Given the description of an element on the screen output the (x, y) to click on. 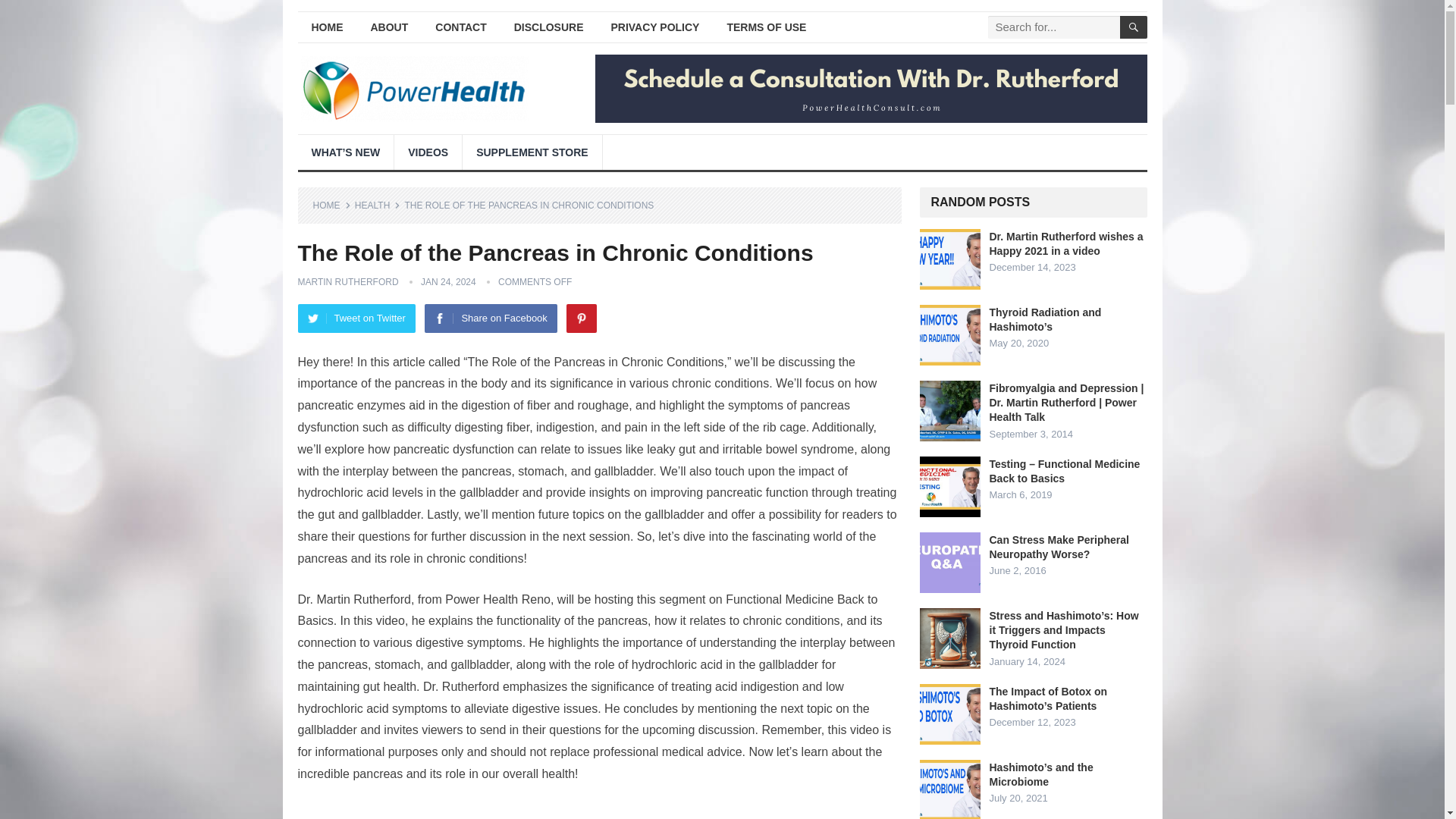
View all posts in Health (377, 204)
Tweet on Twitter (355, 317)
CONTACT (460, 27)
Pinterest (581, 317)
SUPPLEMENT STORE (532, 152)
Thyroid Radiation and Hashimoto's 14 (948, 334)
Share on Facebook (490, 317)
MARTIN RUTHERFORD (347, 281)
DISCLOSURE (548, 27)
HEALTH (377, 204)
